Given the description of an element on the screen output the (x, y) to click on. 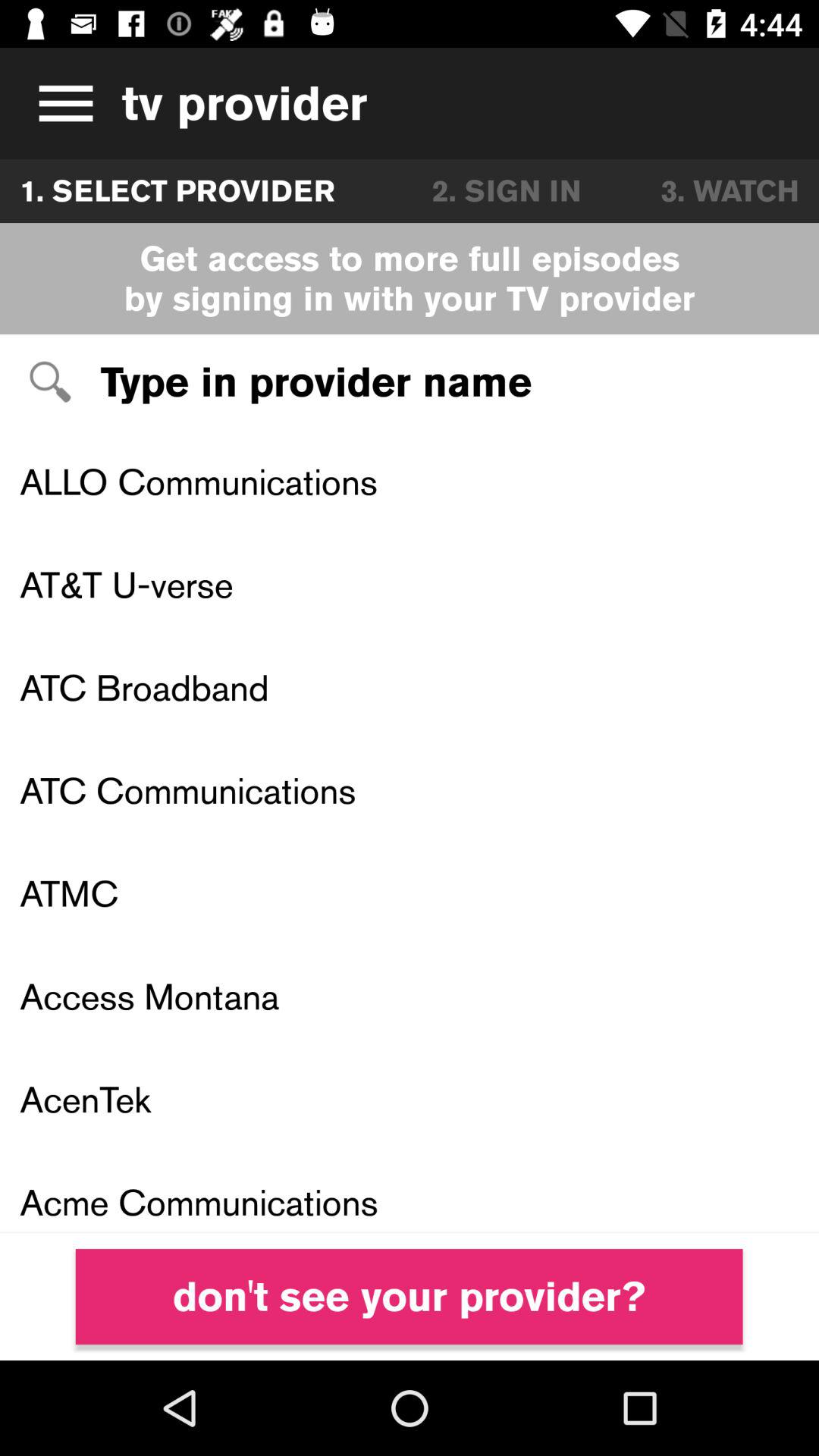
click the item next to the tv provider (60, 103)
